Given the description of an element on the screen output the (x, y) to click on. 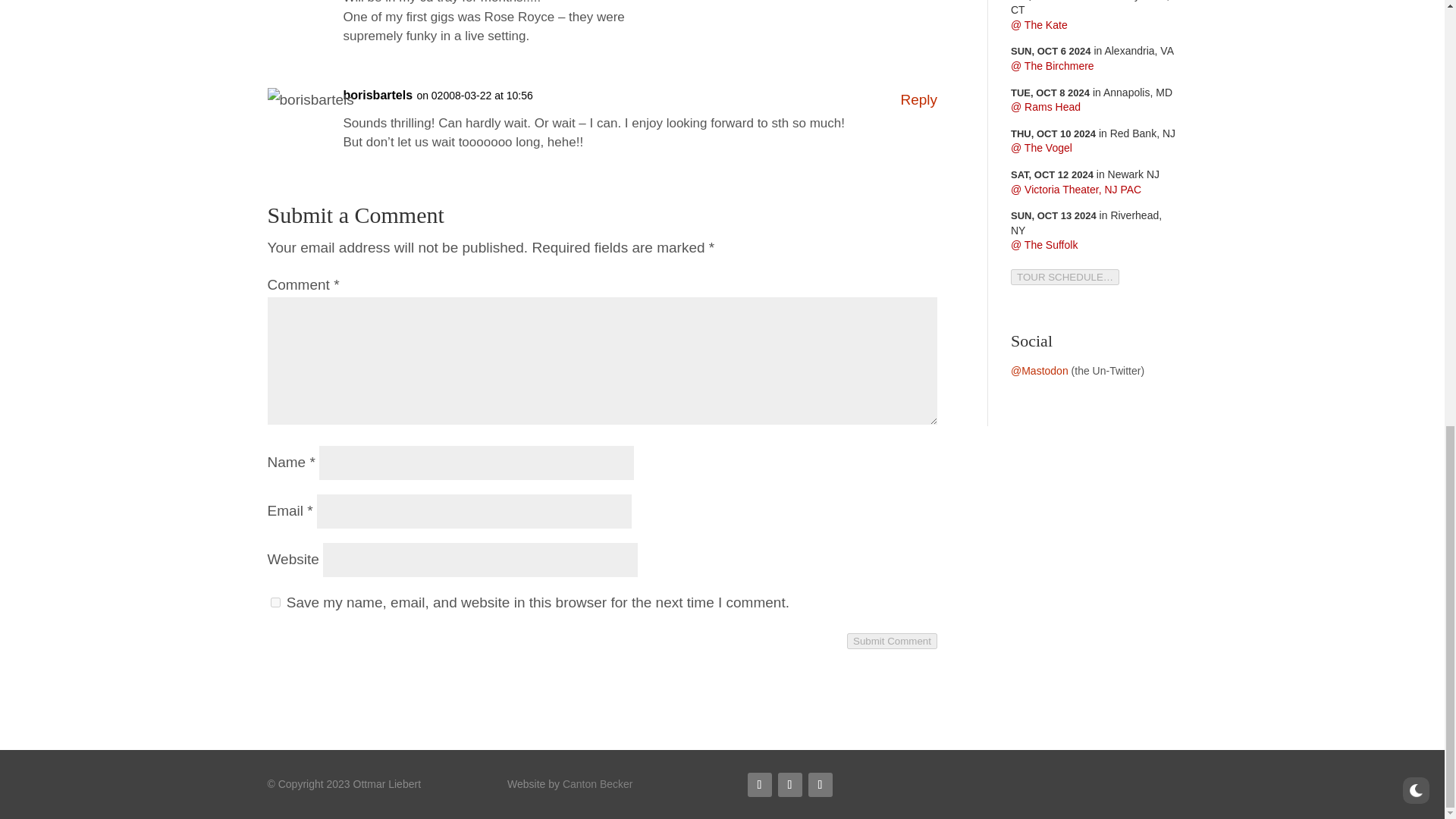
yes (274, 602)
Reply (918, 99)
Follow on RSS (759, 784)
Follow on Odnoklassniki (789, 784)
Submit Comment (892, 641)
Follow on Bandcamp (820, 784)
